Given the description of an element on the screen output the (x, y) to click on. 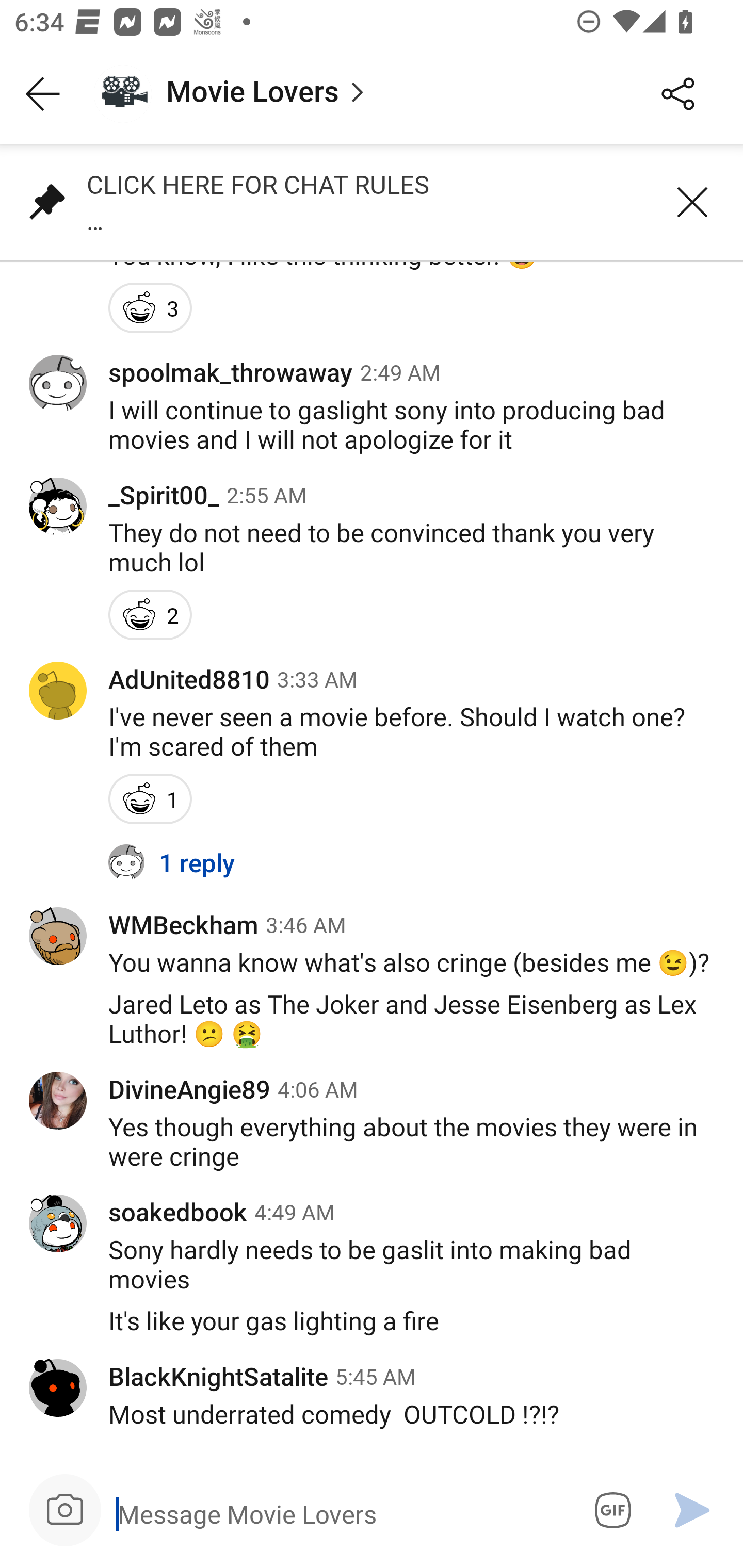
Back (43, 93)
Movie Lovers (353, 93)
Share (677, 93)
Upload image (64, 1510)
Add GIF (609, 1510)
Send message (692, 1510)
Message Message Movie Lovers (338, 1513)
